Given the description of an element on the screen output the (x, y) to click on. 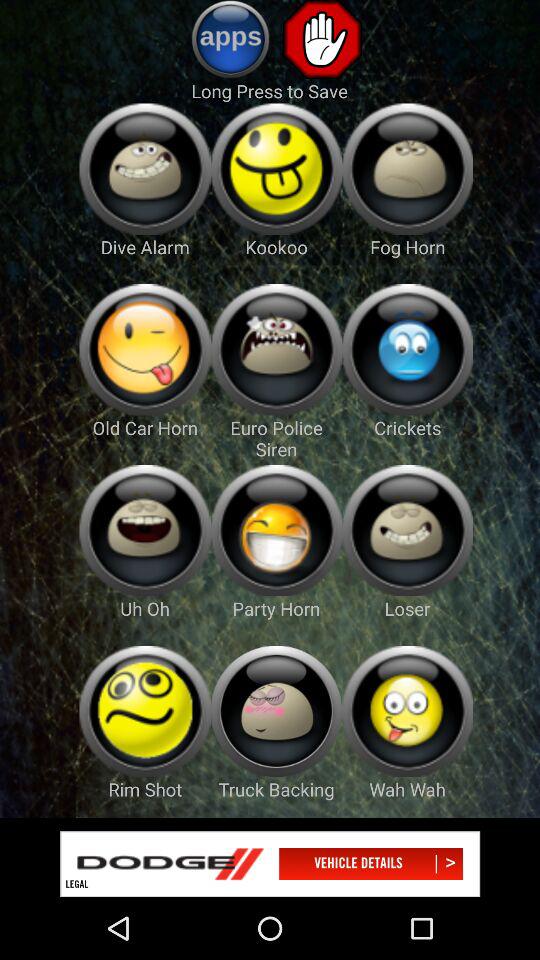
play euro police siren (276, 349)
